Given the description of an element on the screen output the (x, y) to click on. 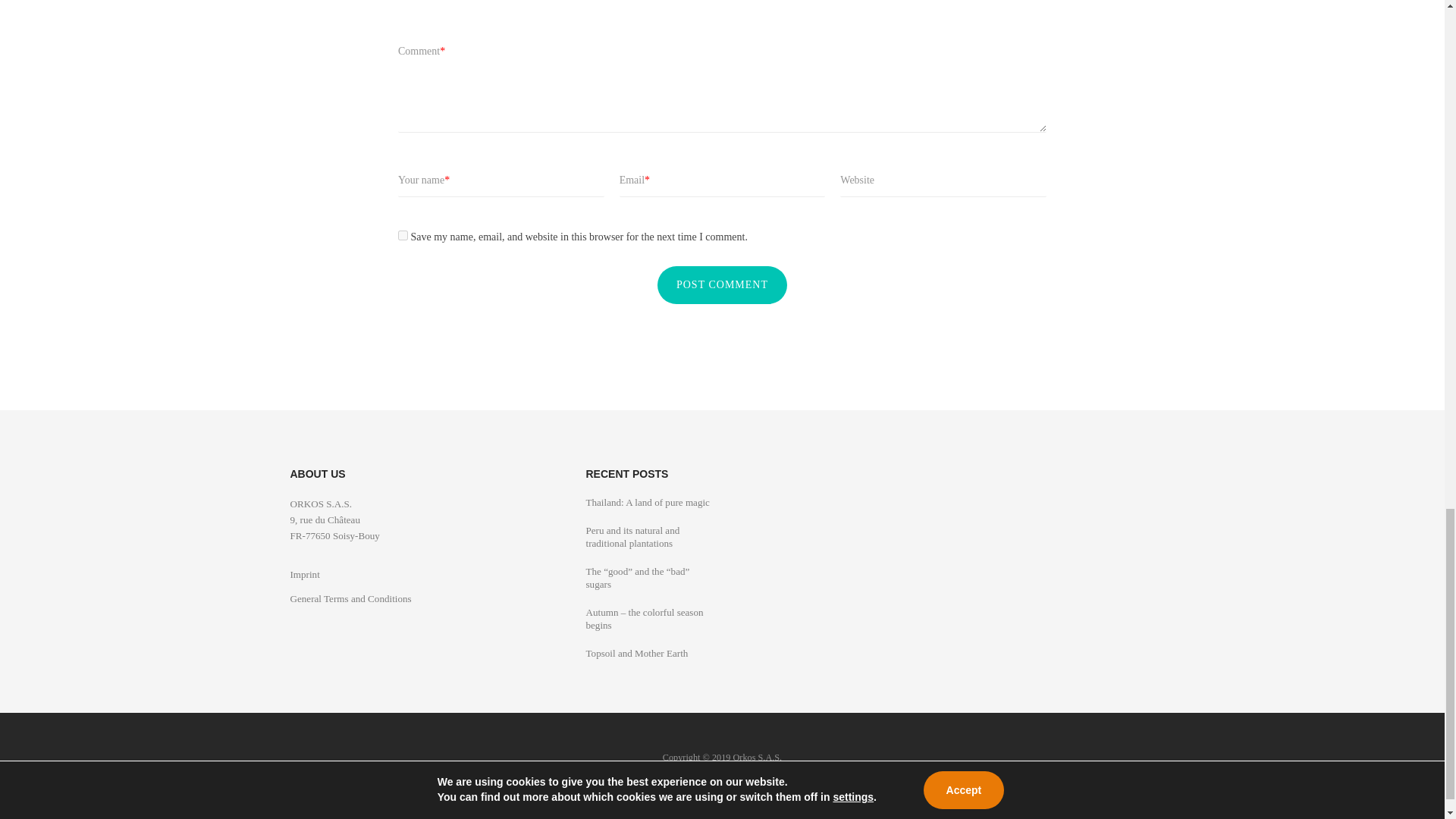
Post Comment (722, 284)
General Terms and Conditions (349, 598)
Post Comment (722, 284)
Thailand: A land of pure magic (647, 501)
Imprint (303, 573)
Peru and its natural and traditional plantations (632, 536)
yes (402, 235)
